Given the description of an element on the screen output the (x, y) to click on. 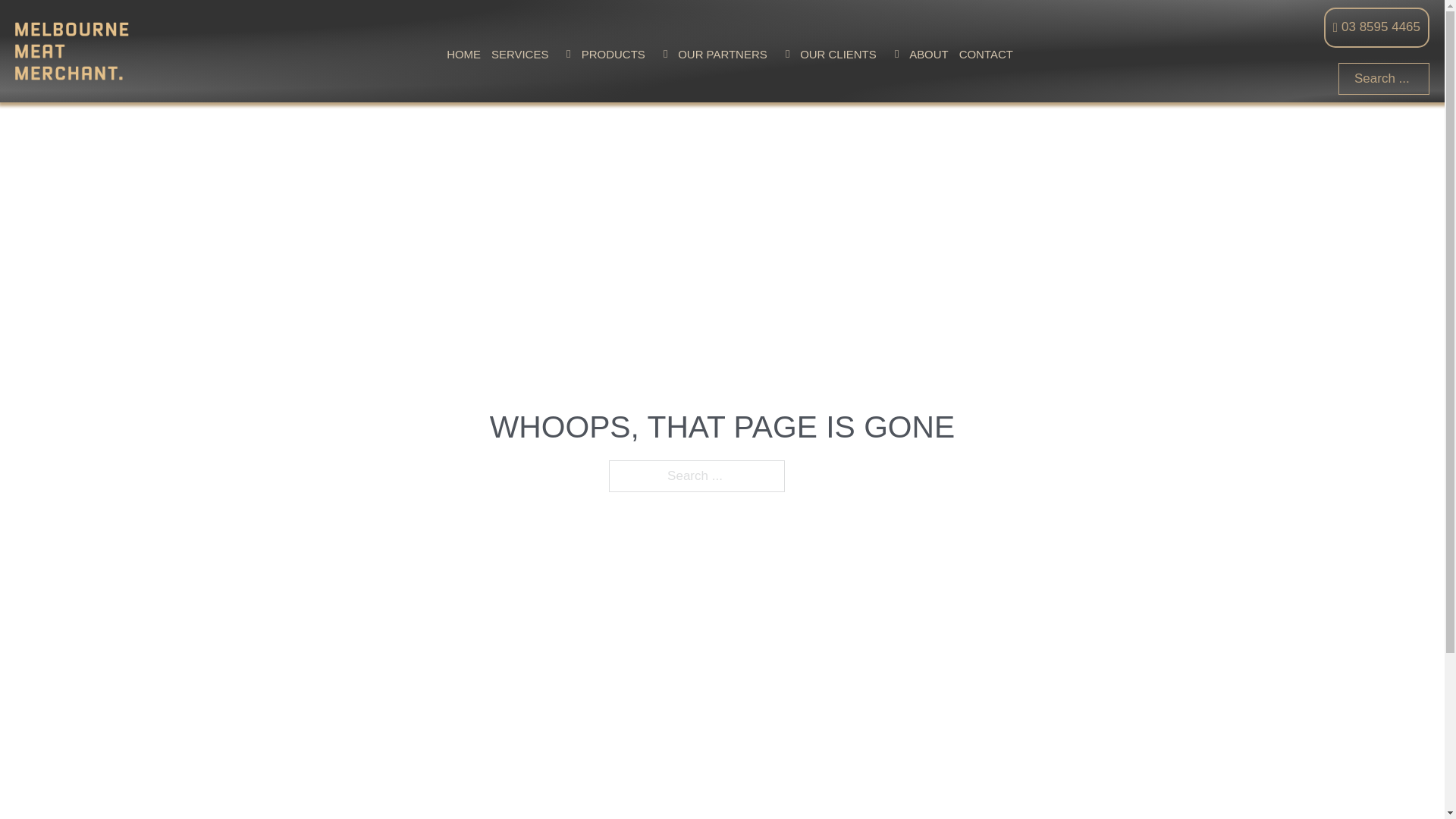
OUR CLIENTS Element type: text (837, 53)
CONTACT Element type: text (985, 54)
OUR PARTNERS Element type: text (721, 53)
PRODUCTS Element type: text (613, 53)
ABOUT Element type: text (928, 54)
03 8595 4465 Element type: text (1376, 27)
HOME Element type: text (463, 54)
SERVICES Element type: text (519, 53)
